Given the description of an element on the screen output the (x, y) to click on. 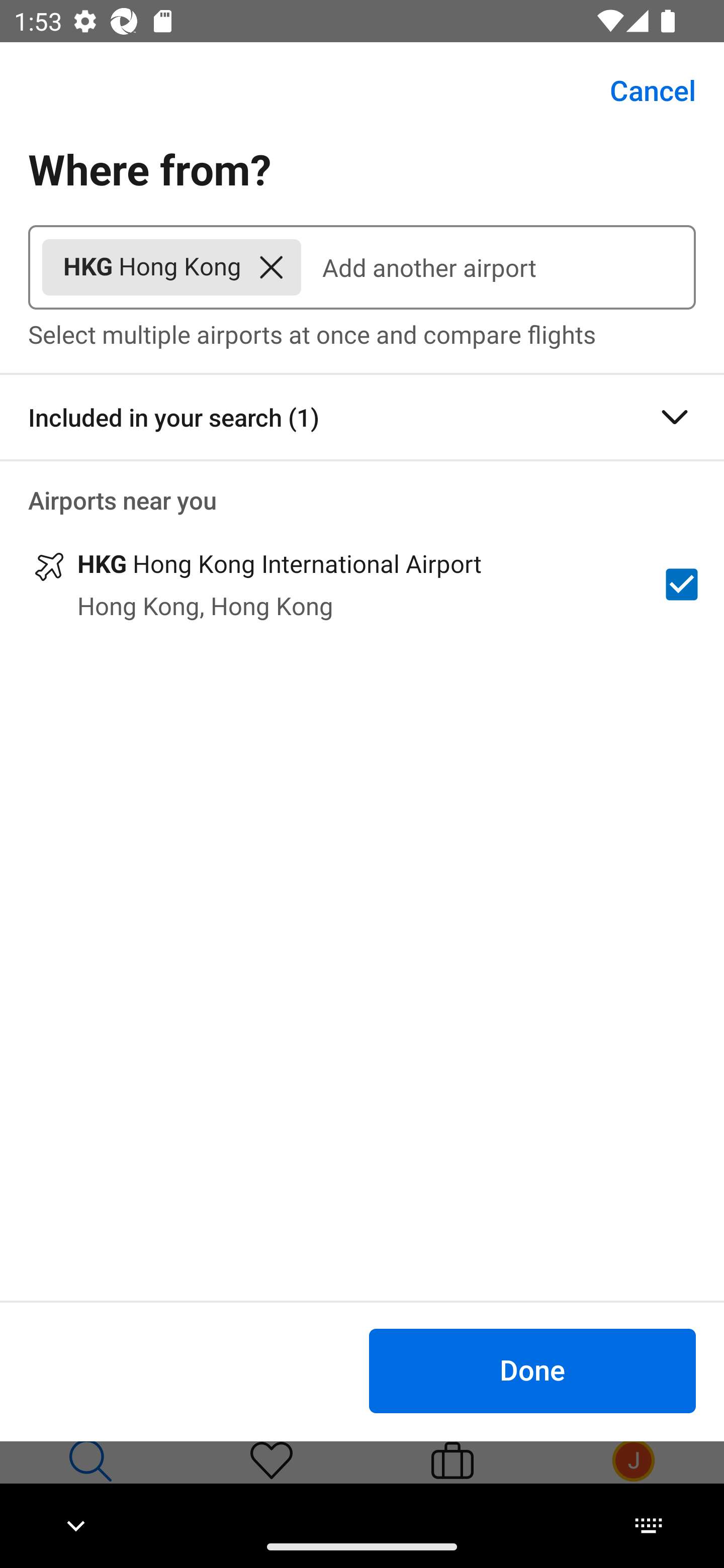
Cancel (641, 90)
Add another airport (498, 266)
HKG Hong Kong Remove HKG Hong Kong (171, 266)
Included in your search (1) (362, 416)
Done (532, 1370)
